Given the description of an element on the screen output the (x, y) to click on. 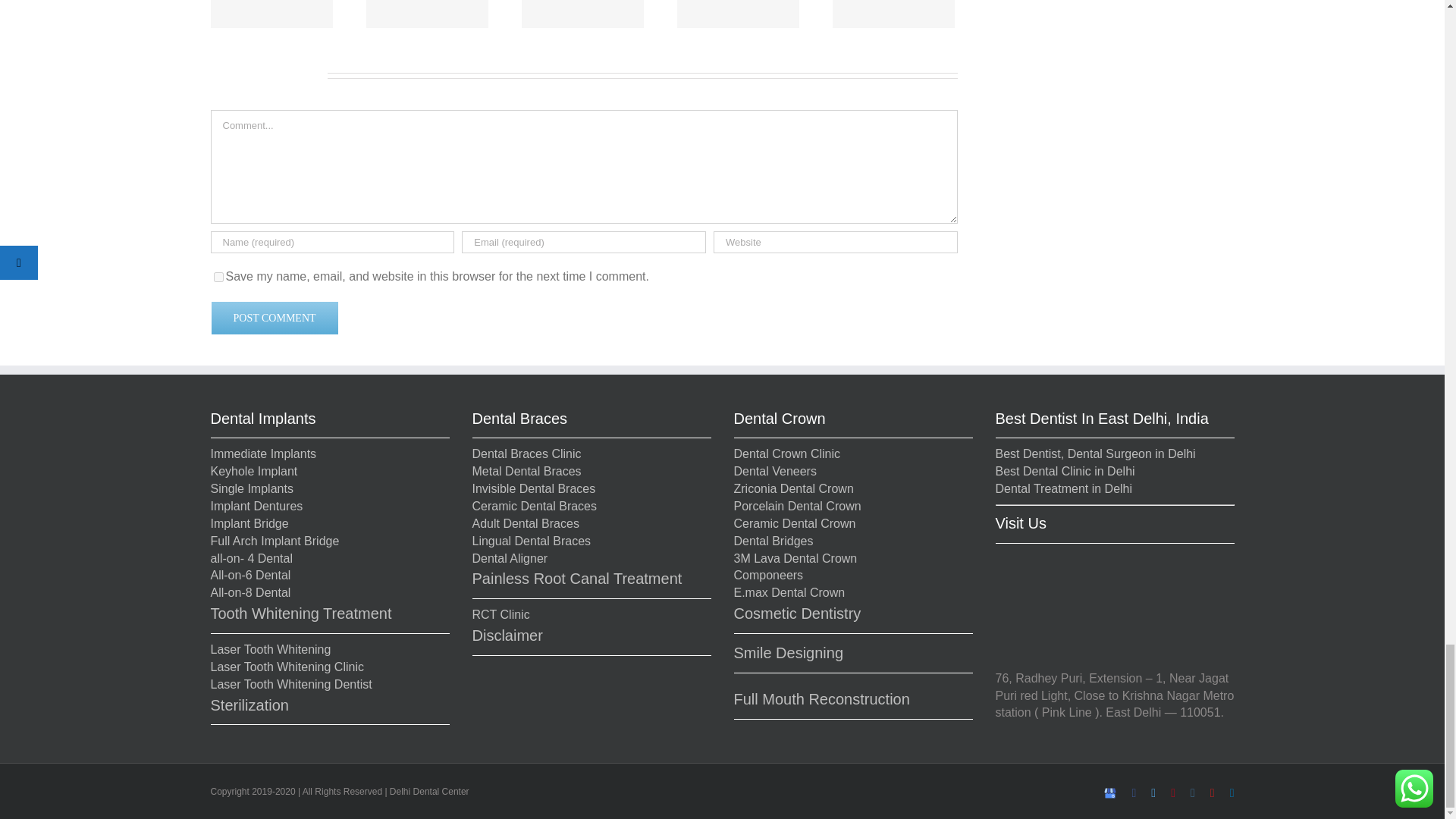
yes (219, 276)
Post Comment (275, 317)
